Given the description of an element on the screen output the (x, y) to click on. 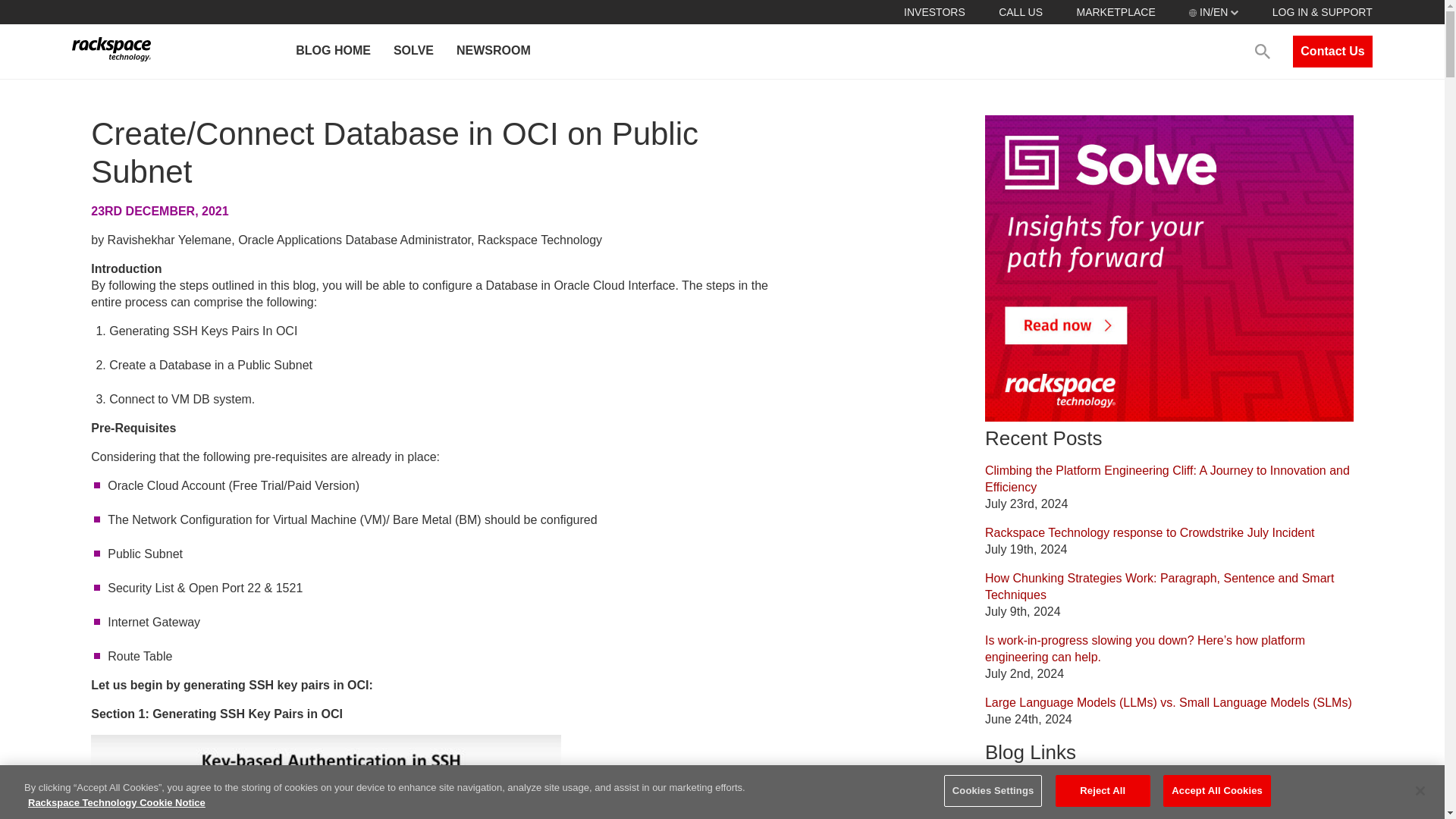
Blog Home (1015, 784)
NEWSROOM (493, 51)
Solve: Thought Leadership (1057, 812)
Contact Us (1331, 51)
MARKETPLACE (1114, 11)
INVESTORS (934, 11)
Rackspace Technology response to Crowdstrike July Incident (1149, 532)
BLOG HOME (332, 51)
CALL US (1020, 11)
SOLVE (413, 51)
